Given the description of an element on the screen output the (x, y) to click on. 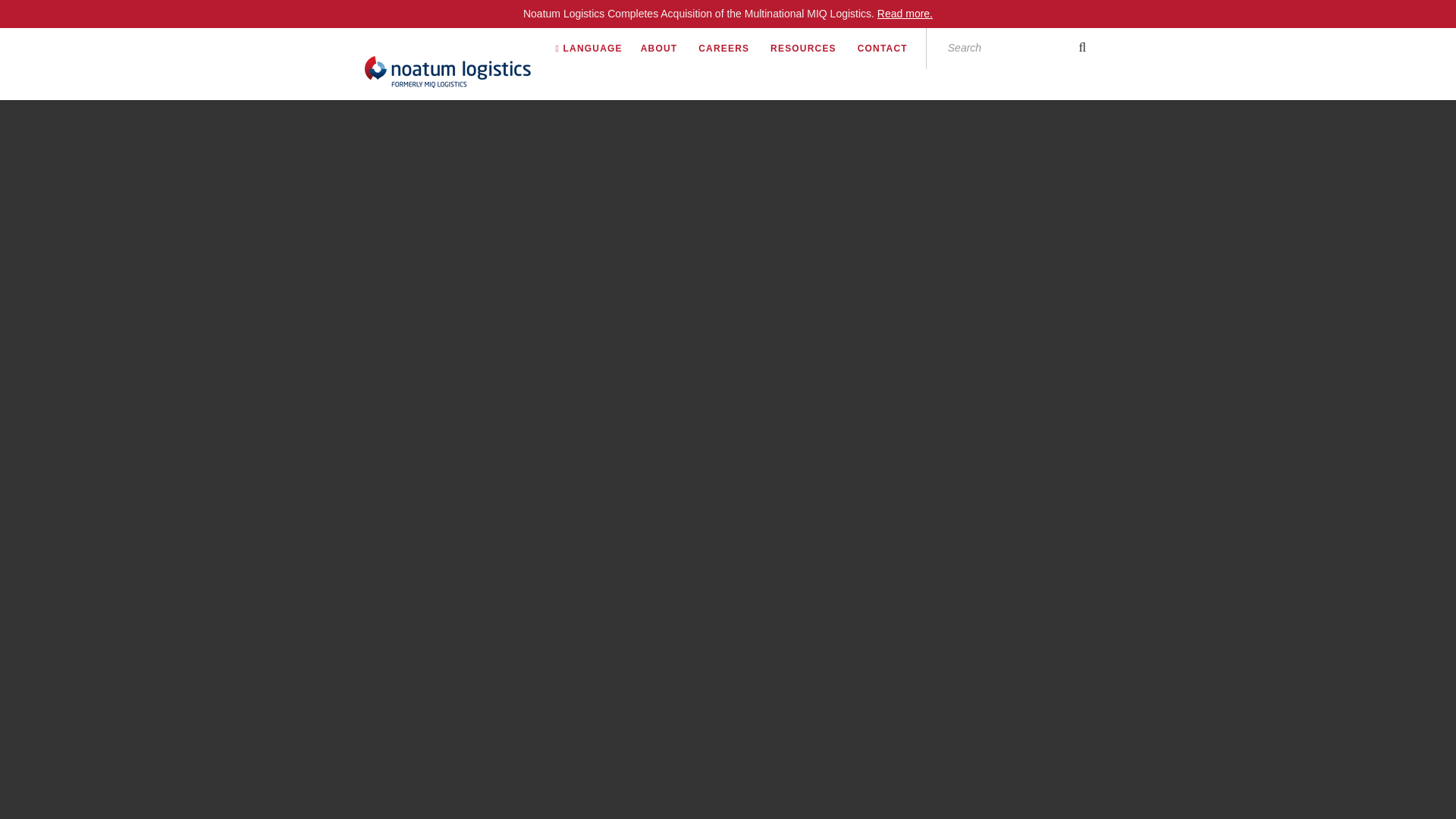
CONTACT (891, 47)
CAREERS (732, 47)
ABOUT (667, 47)
RESOURCES (812, 47)
Read more. (905, 13)
